Given the description of an element on the screen output the (x, y) to click on. 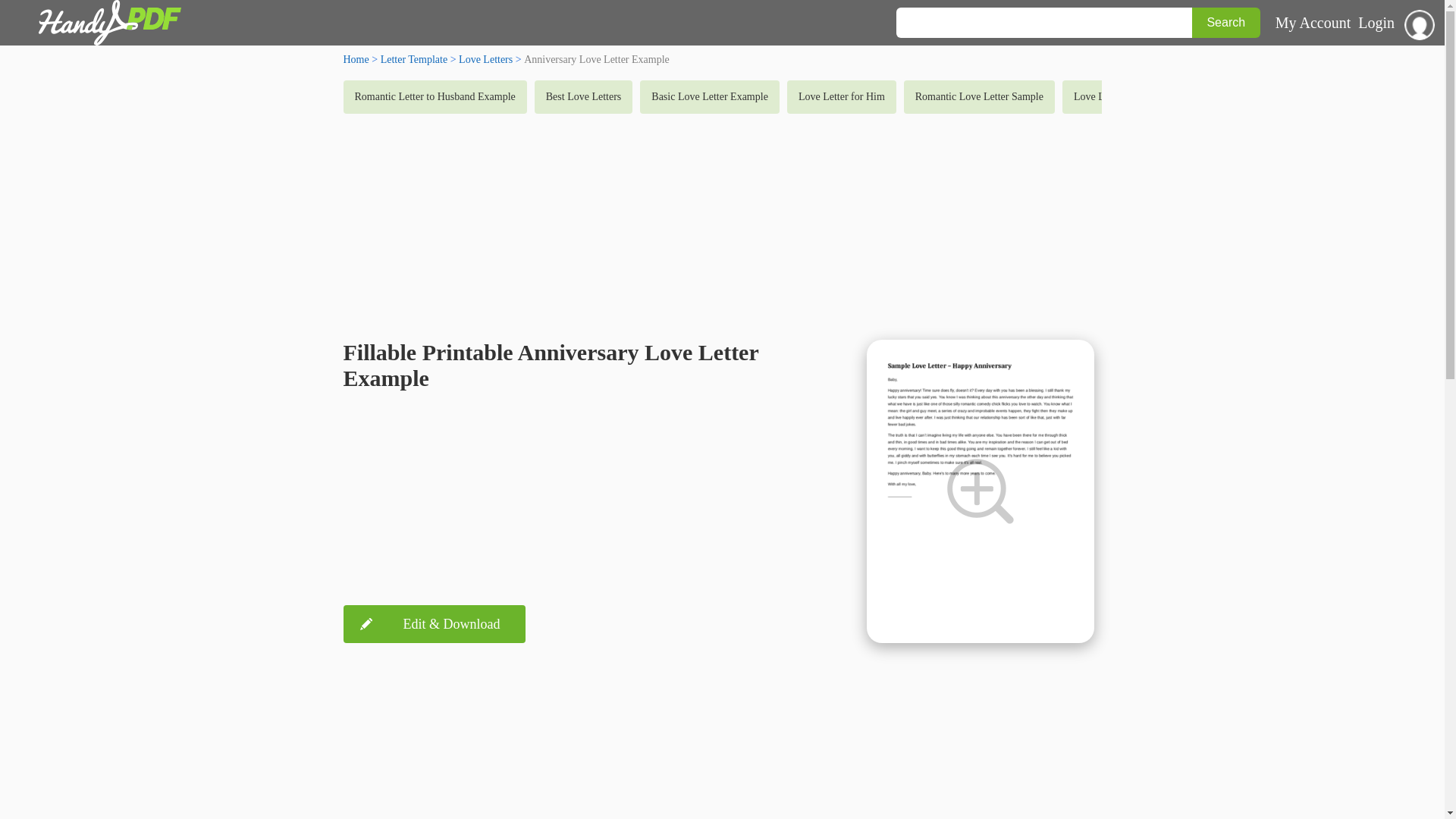
Basic Love Letter Example (709, 96)
home (355, 59)
Home (355, 59)
My Account (1313, 22)
Romantic Letter to Husband Example (433, 96)
Search (1226, 22)
Romantic Letter to Husband Example (433, 96)
Basic Love Letter Example (709, 96)
Best Love Letters (583, 96)
Love Letter for Him (841, 96)
